Given the description of an element on the screen output the (x, y) to click on. 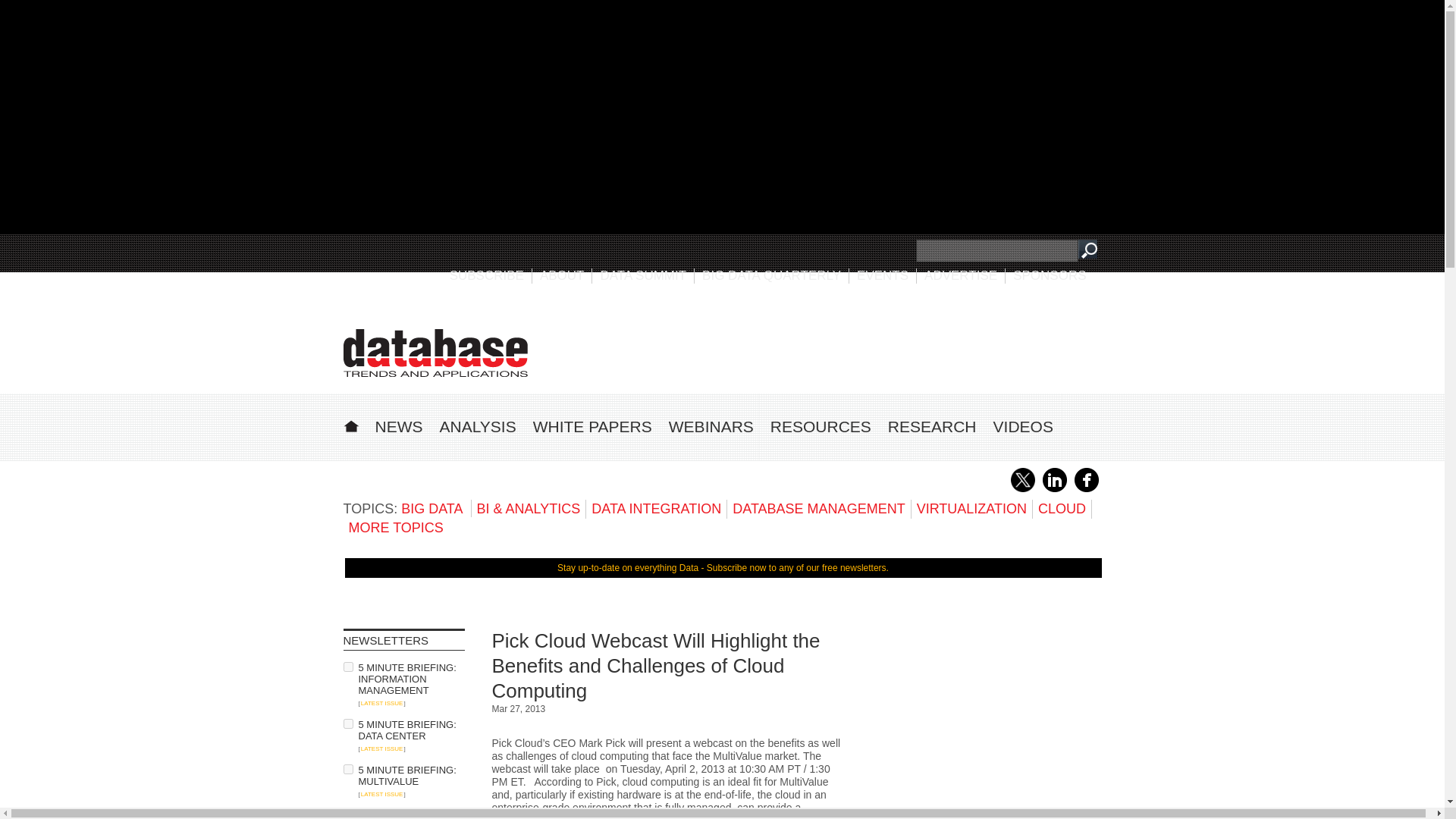
DBTA on LinkedIn (1053, 489)
DBTA on Facebook (1085, 489)
ANALYSIS (477, 425)
3rd party ad content (824, 347)
SPONSORS (1049, 275)
DBTA (434, 352)
HOME (350, 424)
ADVERTISE (960, 275)
DBTA (434, 352)
NEWS (398, 425)
EVENTS (882, 275)
on (347, 768)
BIG DATA QUARTERLY (771, 275)
SUBSCRIBE (486, 275)
